Given the description of an element on the screen output the (x, y) to click on. 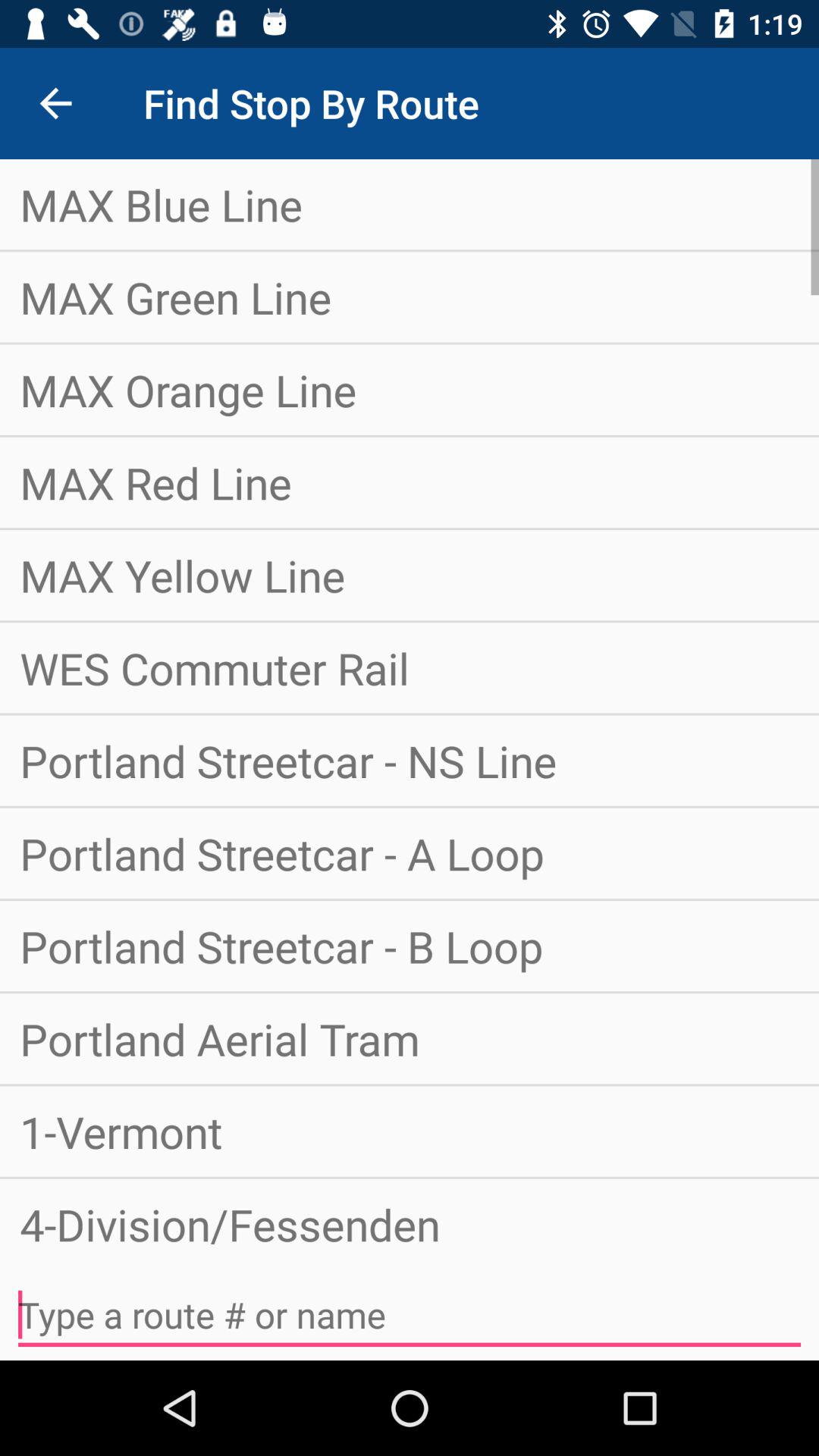
choose the item at the top left corner (55, 103)
